Given the description of an element on the screen output the (x, y) to click on. 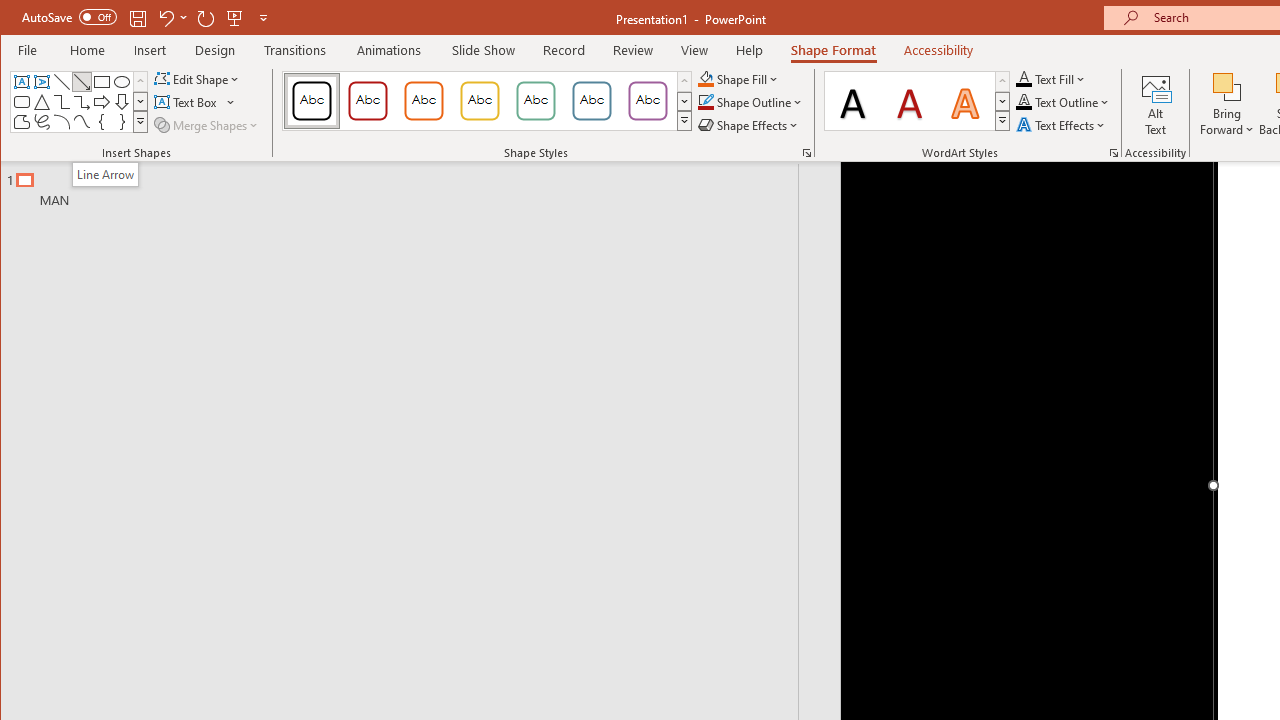
Fill: Dark Red, Accent color 1; Shadow (909, 100)
